Given the description of an element on the screen output the (x, y) to click on. 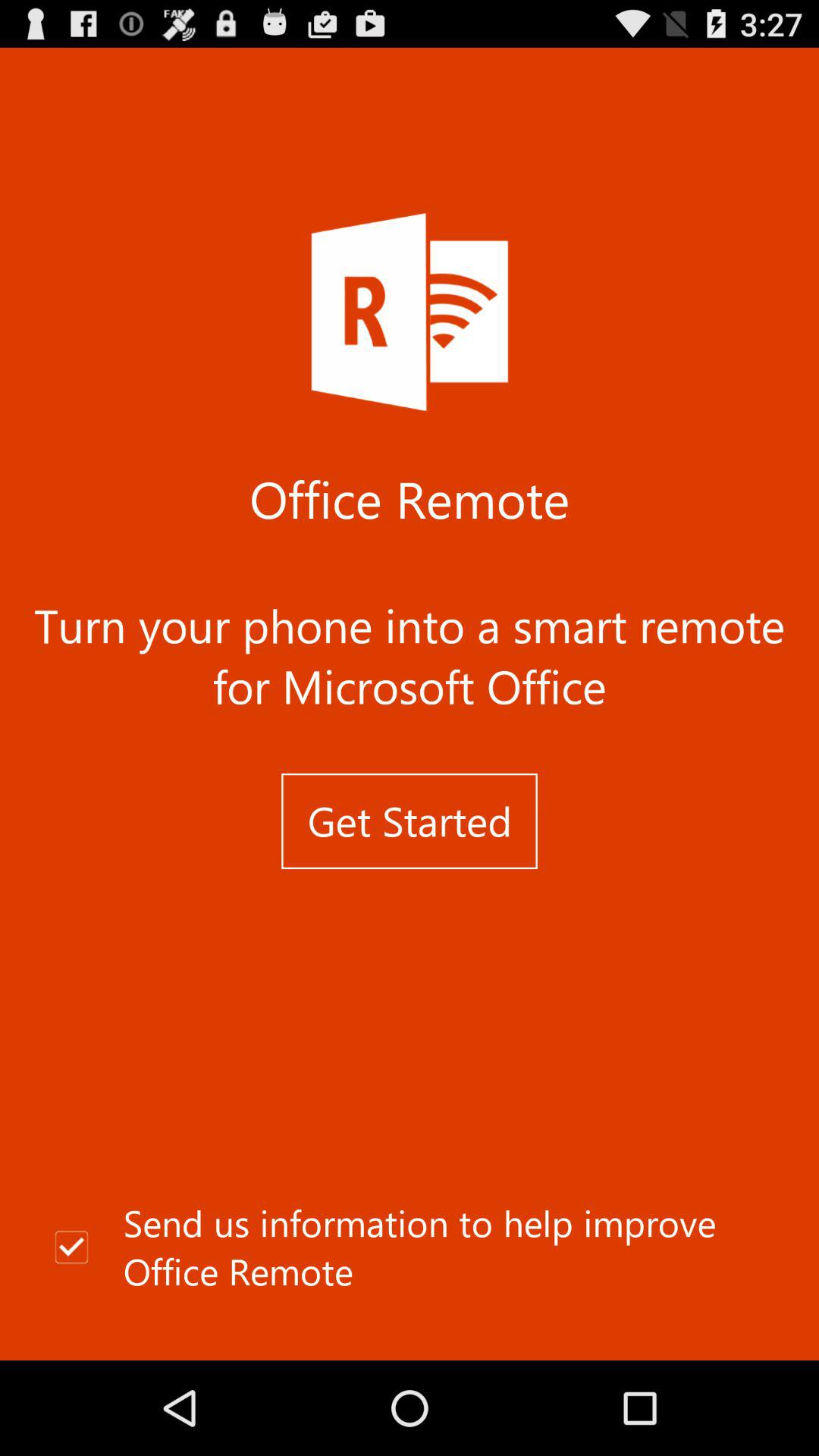
swipe until send us information checkbox (409, 1247)
